Given the description of an element on the screen output the (x, y) to click on. 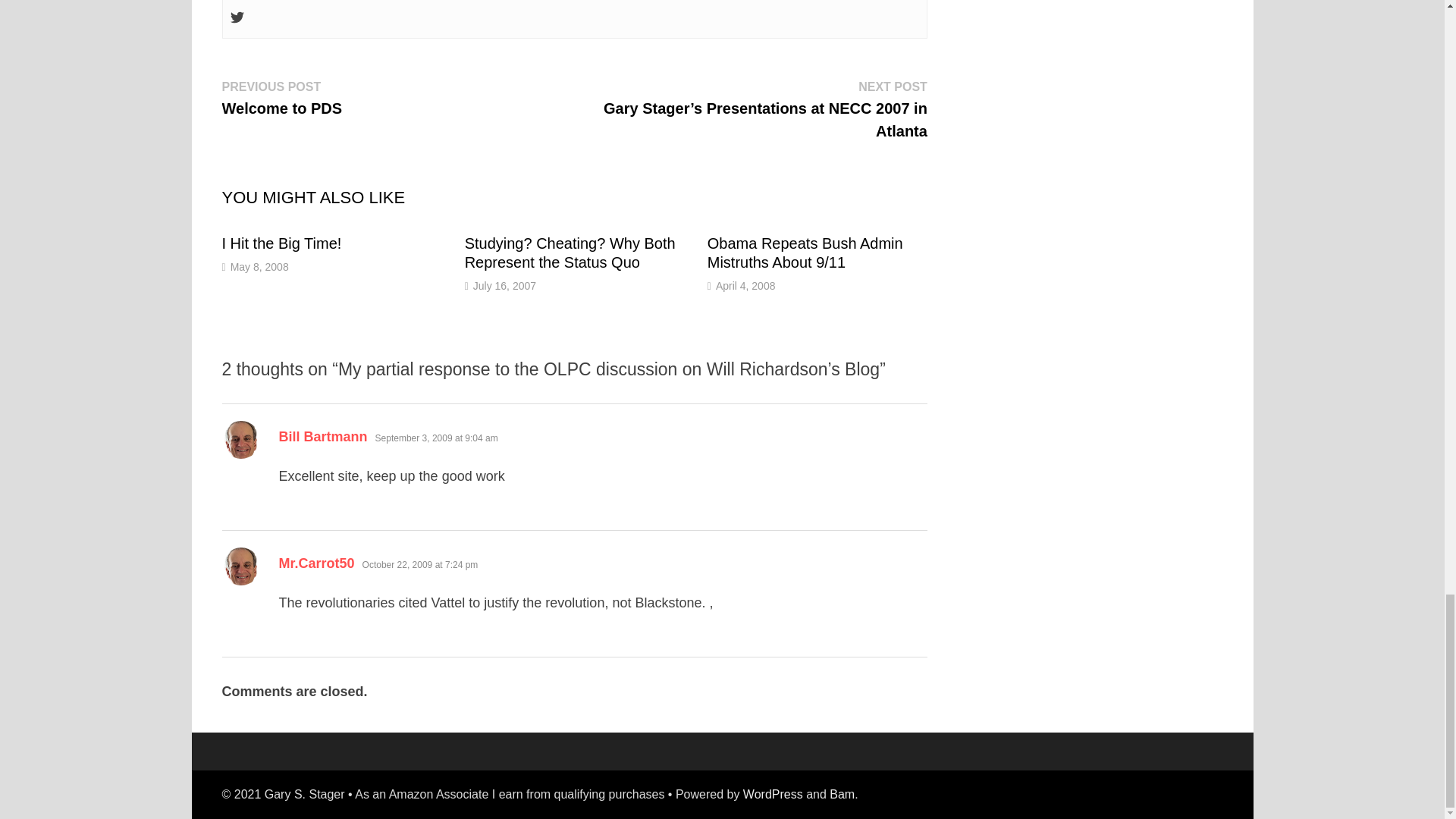
I Hit the Big Time! (280, 243)
May 8, 2008 (259, 266)
Studying? Cheating? Why Both Represent the Status Quo (569, 253)
July 16, 2007 (504, 285)
I Hit the Big Time! (280, 243)
Studying? Cheating? Why Both Represent the Status Quo (569, 253)
